Given the description of an element on the screen output the (x, y) to click on. 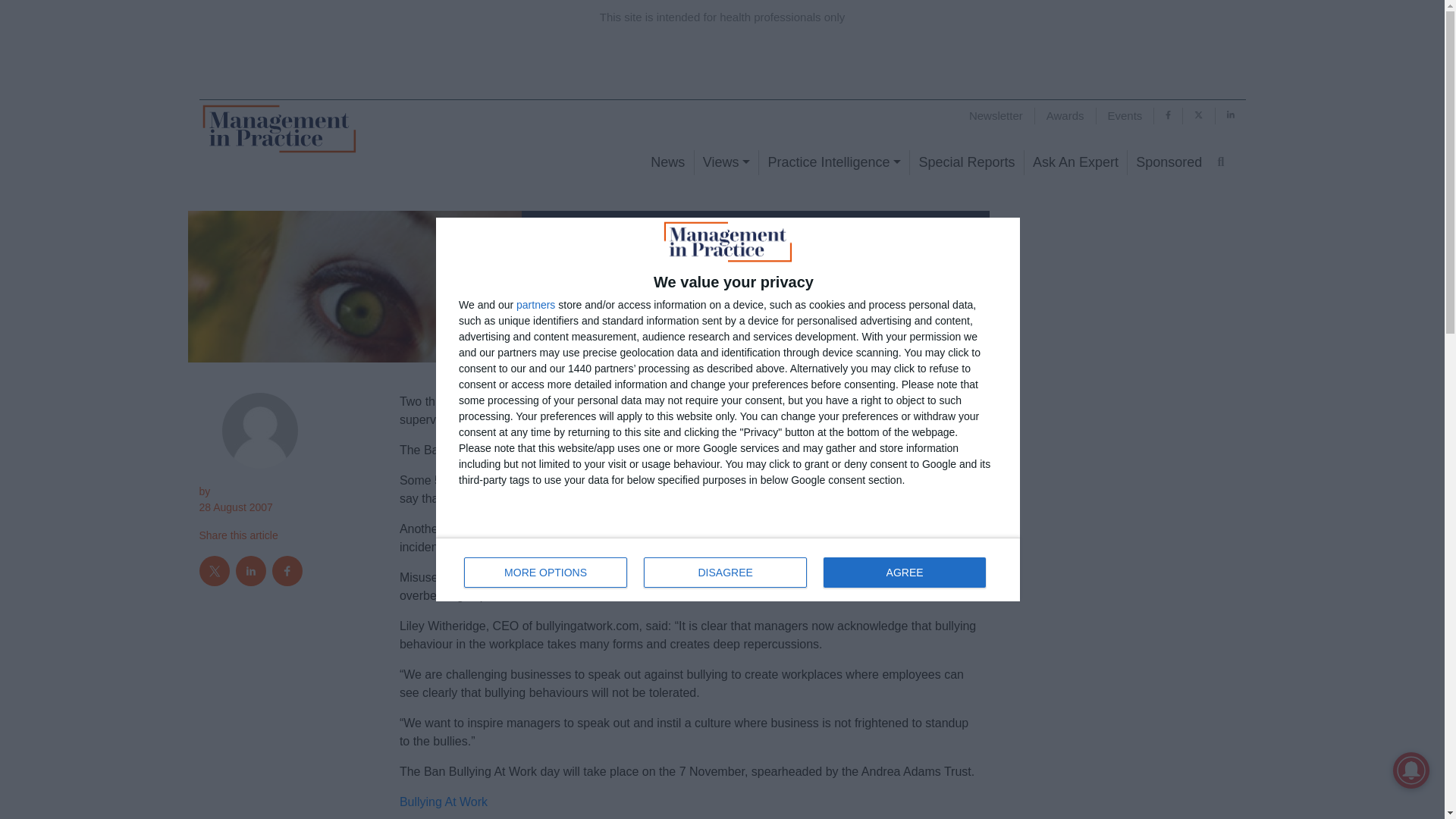
DISAGREE (724, 572)
AGREE (904, 572)
partners (535, 304)
Practice Intelligence (833, 162)
Events (1125, 115)
Special Reports (727, 569)
Views (966, 162)
Ask An Expert (726, 162)
Newsletter (1075, 162)
News (996, 115)
MORE OPTIONS (667, 162)
Sponsored (545, 572)
Awards (1167, 162)
